Given the description of an element on the screen output the (x, y) to click on. 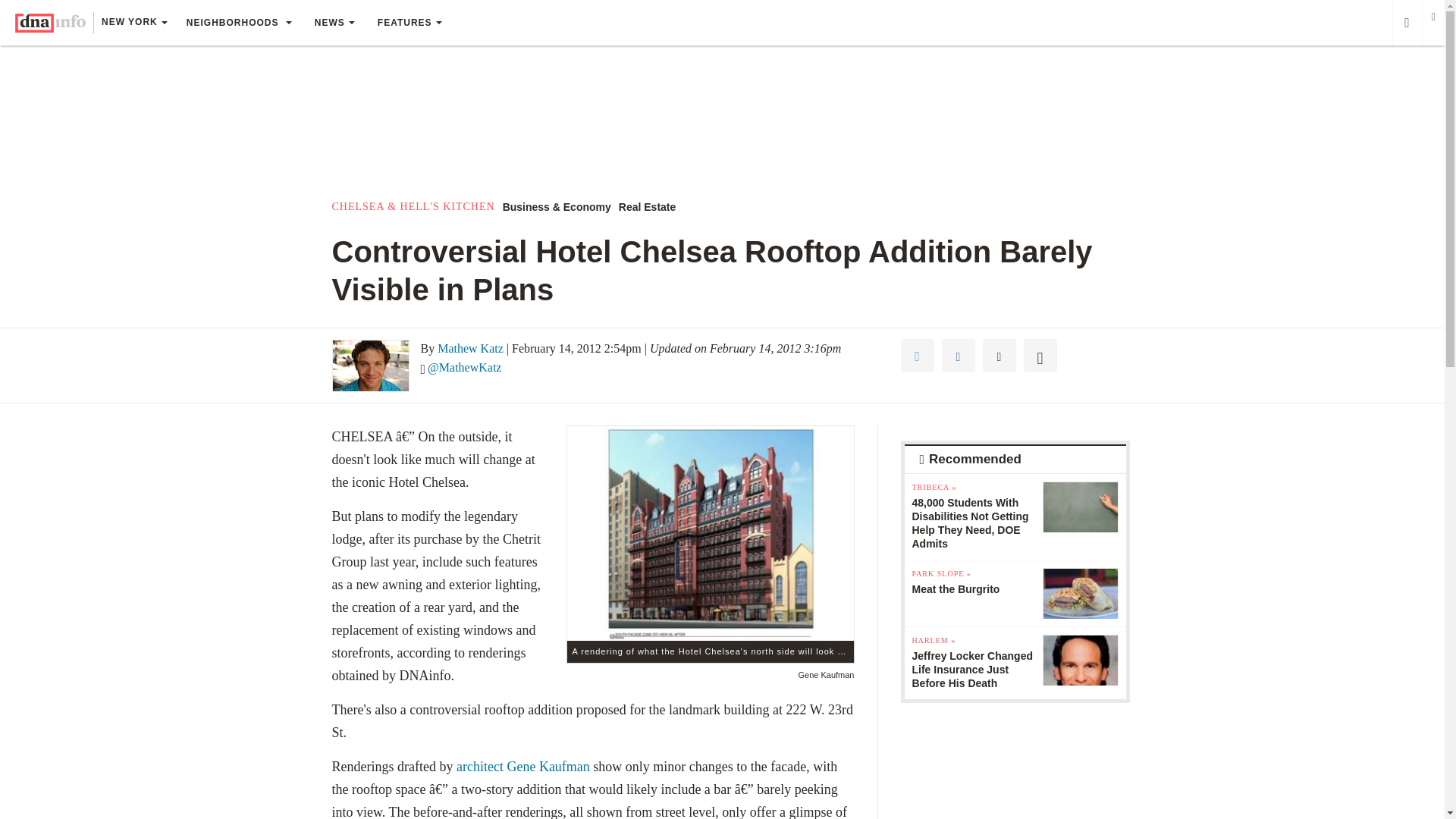
NEIGHBORHOODS (238, 22)
NEW YORK (133, 23)
New York - Home (49, 22)
NEWS (334, 22)
